Given the description of an element on the screen output the (x, y) to click on. 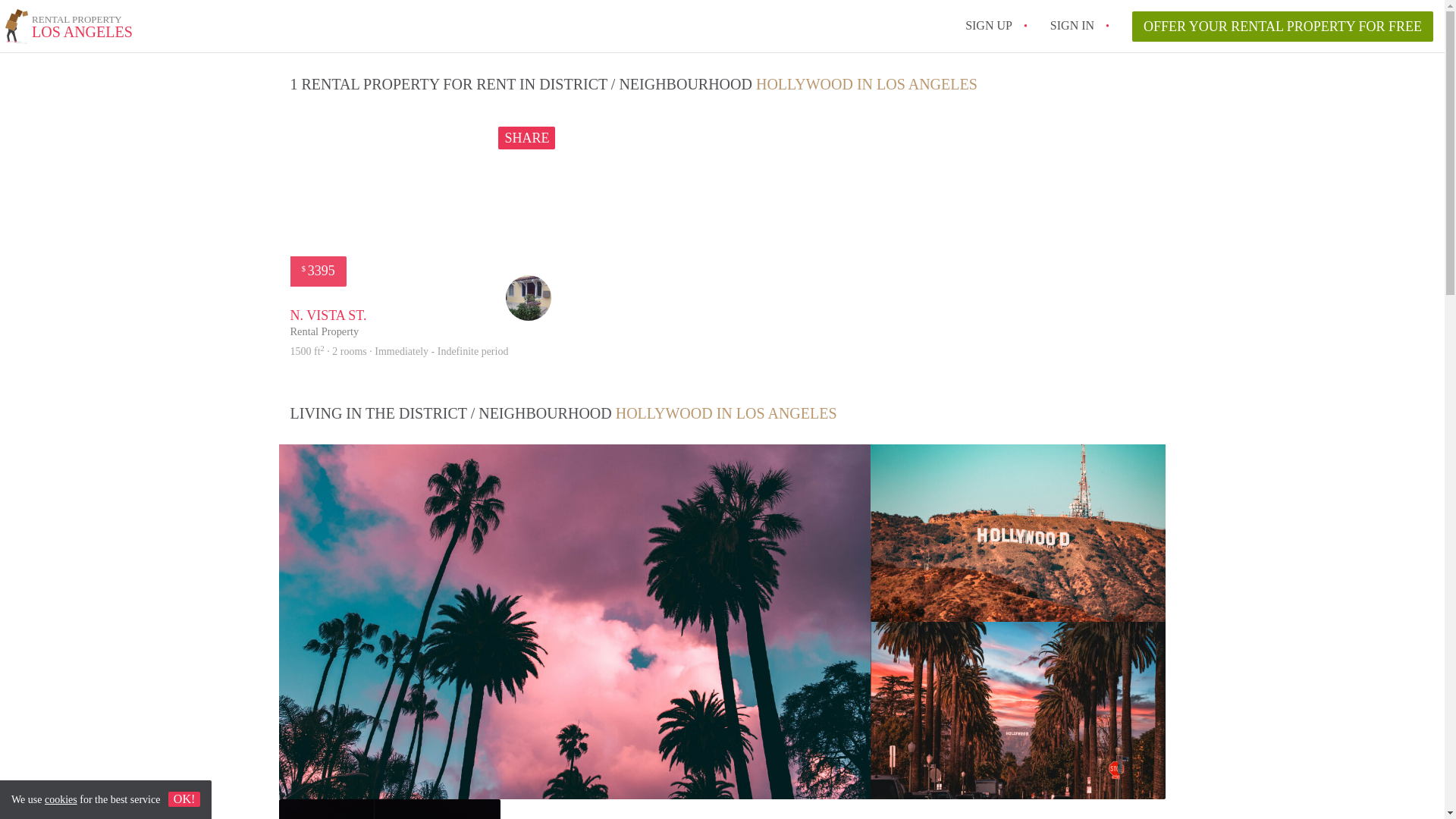
Sign in with your information (1071, 25)
SIGN IN (1071, 25)
Back to homepage (68, 28)
 Go to N. VISTA ST. (398, 351)
SIGN UP (988, 25)
Sign up for a new account (68, 28)
OFFER YOUR RENTAL PROPERTY FOR FREE (988, 25)
More information about our conditions and privacy (1282, 26)
SHARE (61, 799)
Go to N. VISTA ST. (525, 137)
Offer your Rental Property for free (327, 322)
